Given the description of an element on the screen output the (x, y) to click on. 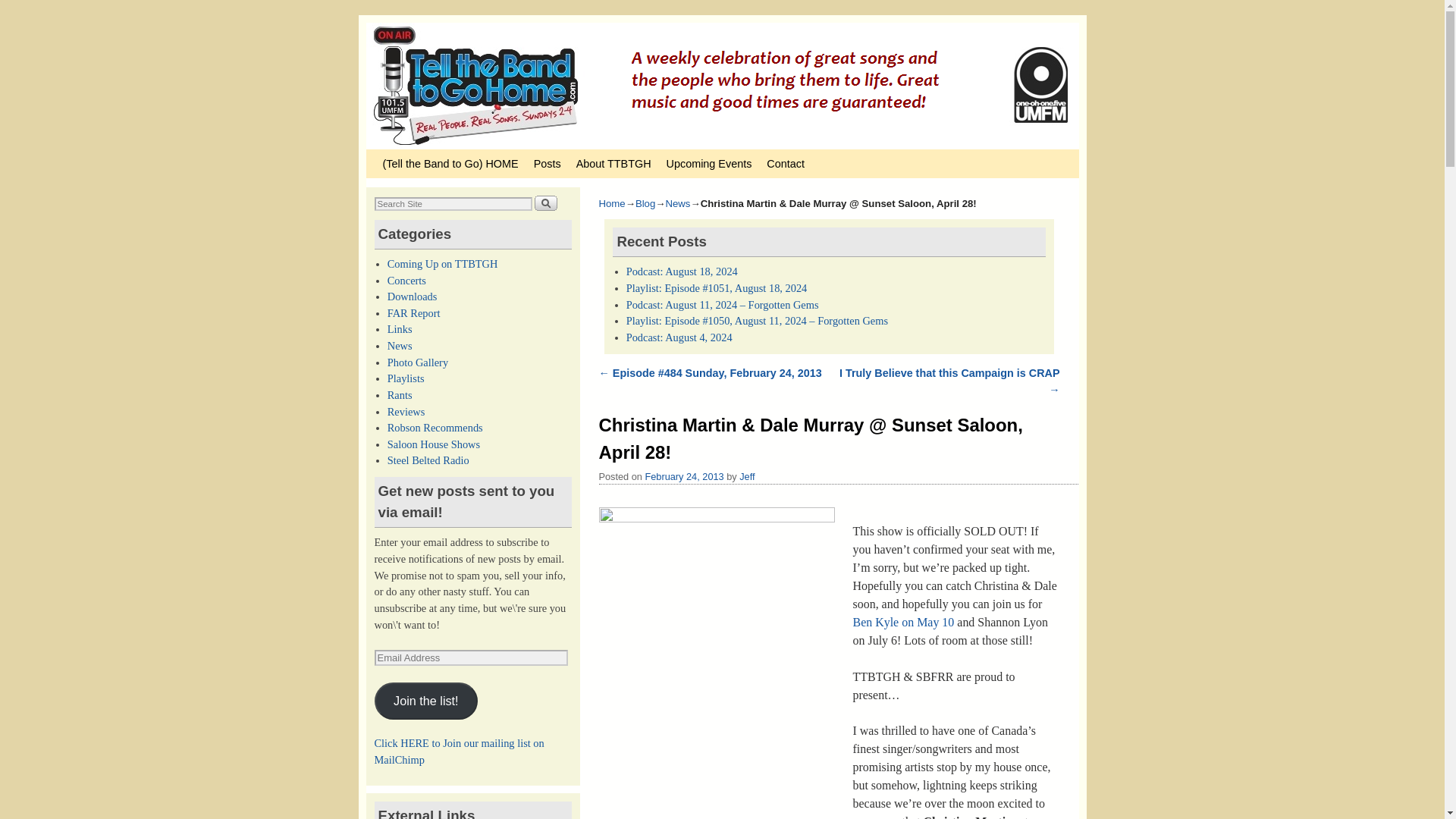
Upcoming Events (709, 163)
Steel Belted Radio (427, 460)
Skip to primary content (408, 155)
Photo Gallery (417, 362)
Posts (547, 163)
Coming Up on TTBTGH (442, 263)
News (399, 345)
Contact (785, 163)
Skip to secondary content (412, 155)
About TTBTGH (614, 163)
